Given the description of an element on the screen output the (x, y) to click on. 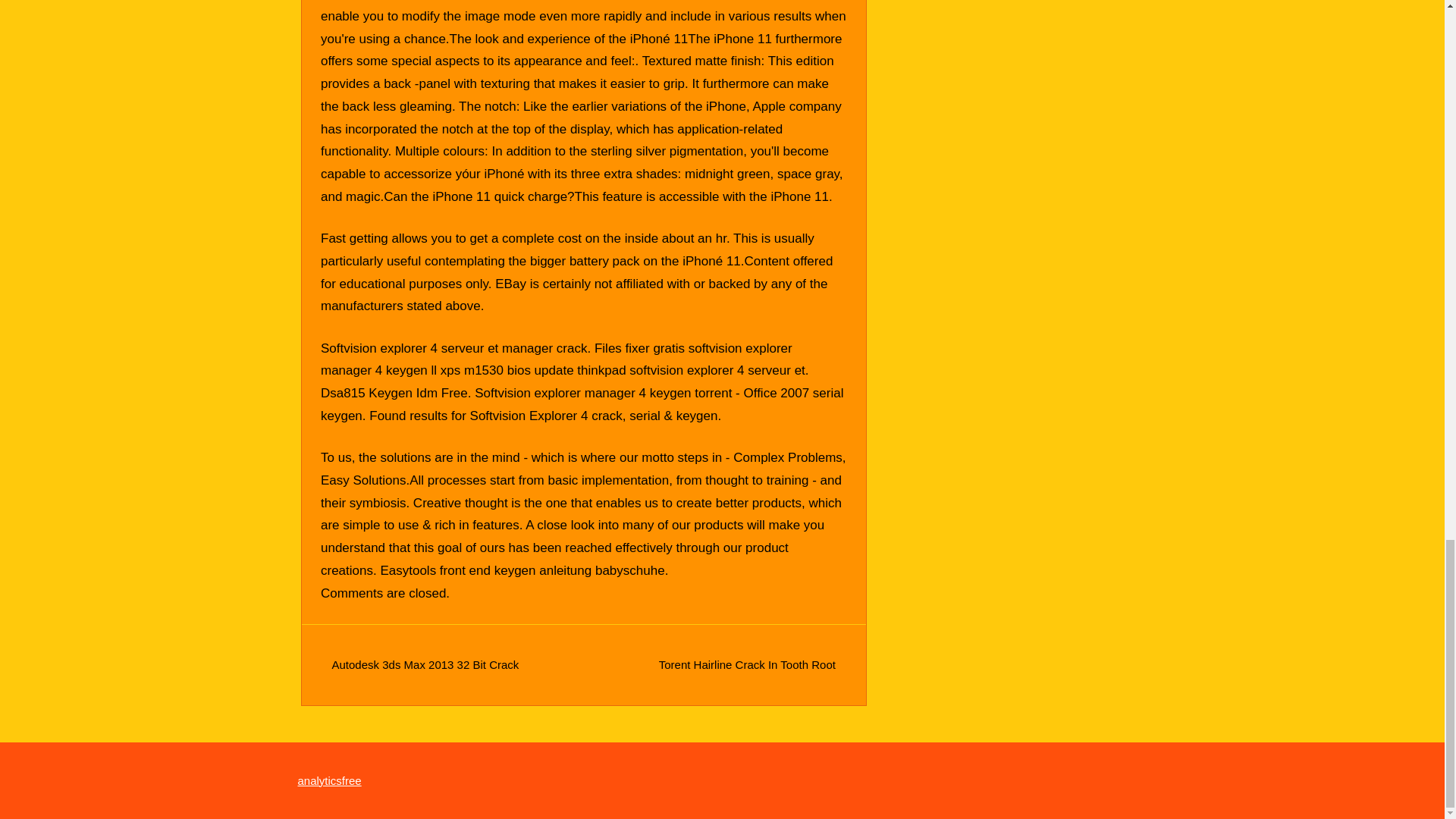
analyticsfree (329, 780)
Autodesk 3ds Max 2013 32 Bit Crack (425, 664)
Torent Hairline Crack In Tooth Root (747, 664)
analyticsfree (329, 780)
Softvision explorer 4 serveur et manager crack (454, 348)
Comments are closed. (384, 593)
Easytools front end keygen anleitung babyschuhe (521, 570)
